Given the description of an element on the screen output the (x, y) to click on. 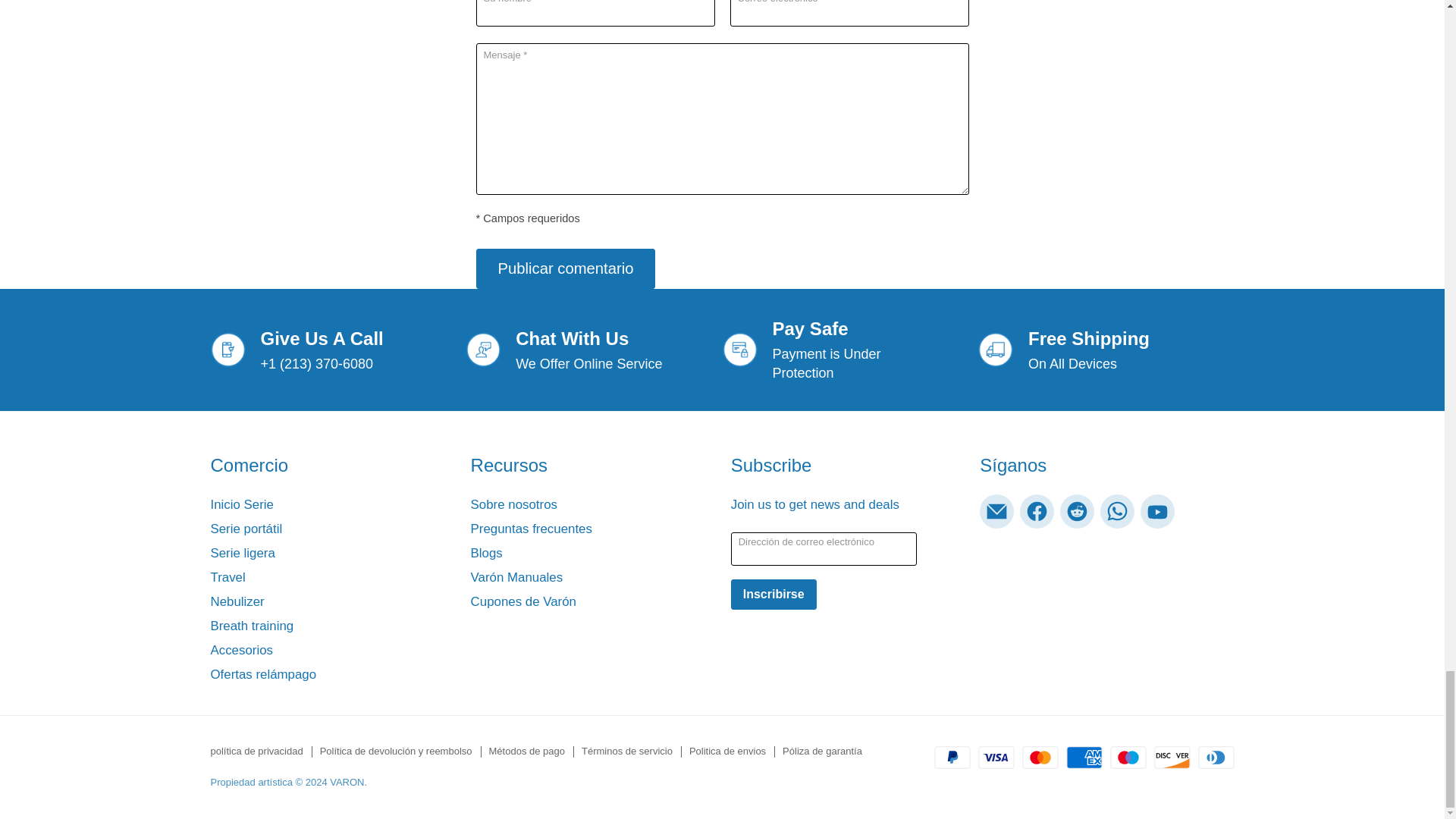
WhatsApp (1117, 511)
PayPal (952, 757)
YouTube (1157, 511)
Visa (996, 757)
Reddit (1076, 511)
Facebook (1037, 511)
Mastercard (1040, 757)
